Given the description of an element on the screen output the (x, y) to click on. 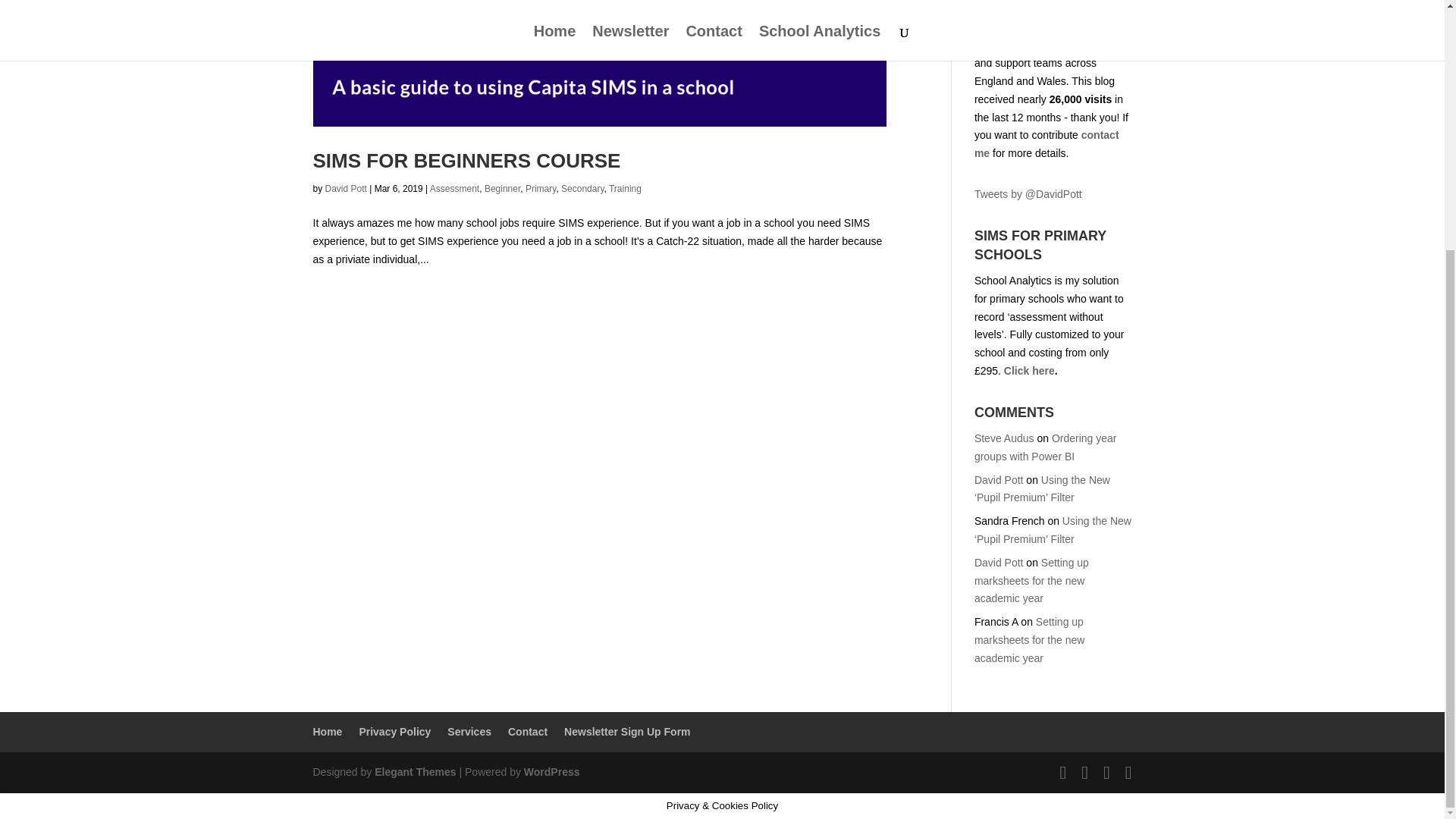
SIMS FOR BEGINNERS COURSE (466, 160)
Contact (1046, 143)
Services (469, 731)
Setting up marksheets for the new academic year (1029, 639)
David Pott (998, 562)
Home (327, 731)
Posts by David Pott (345, 188)
Beginner (501, 188)
David Pott (998, 480)
WordPress (551, 771)
Setting up marksheets for the new academic year (1031, 580)
Training (625, 188)
Secondary (582, 188)
Premium WordPress Themes (414, 771)
Elegant Themes (414, 771)
